Given the description of an element on the screen output the (x, y) to click on. 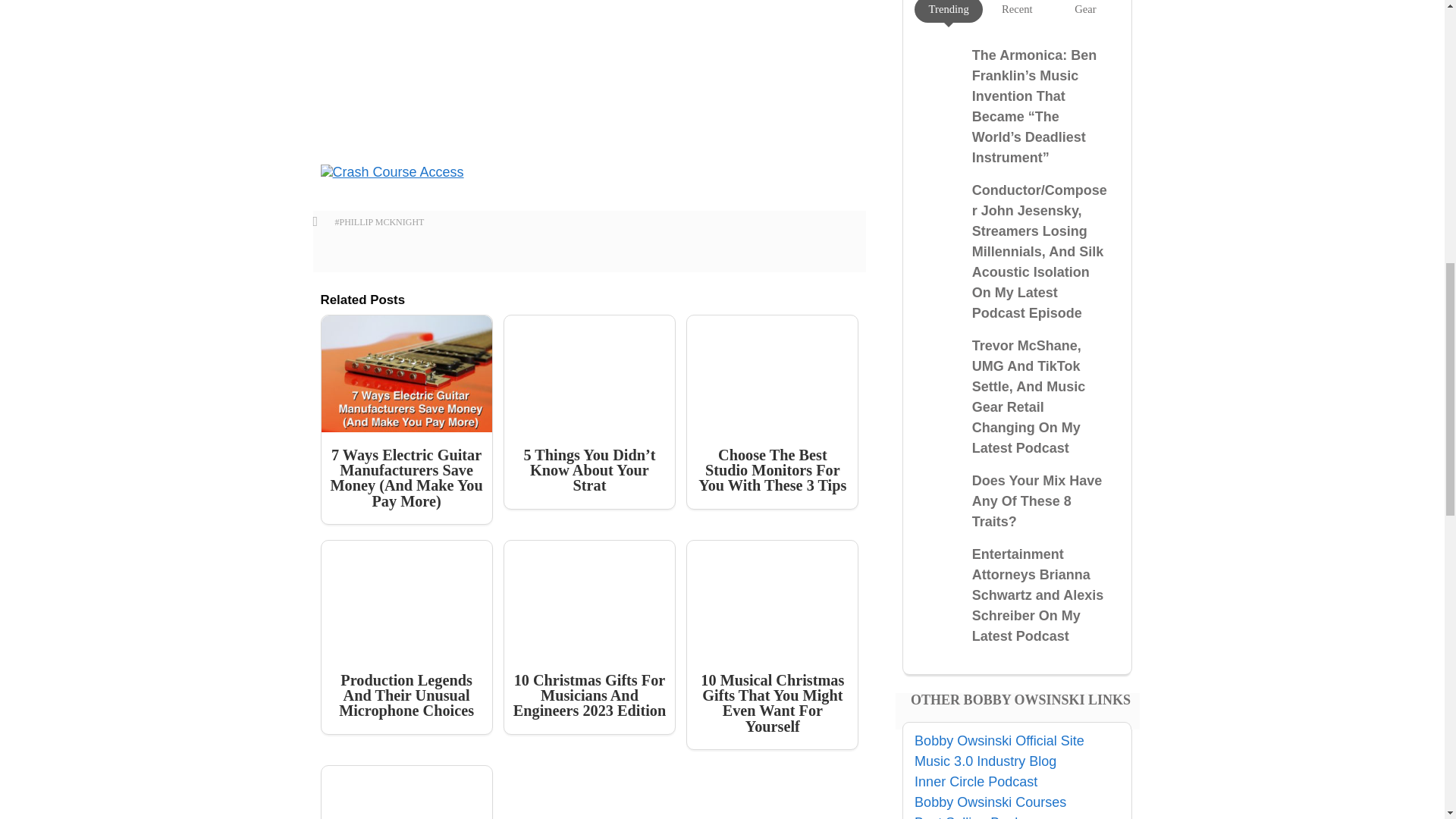
Trending (948, 9)
Gear (1085, 9)
Recent (1016, 9)
